Given the description of an element on the screen output the (x, y) to click on. 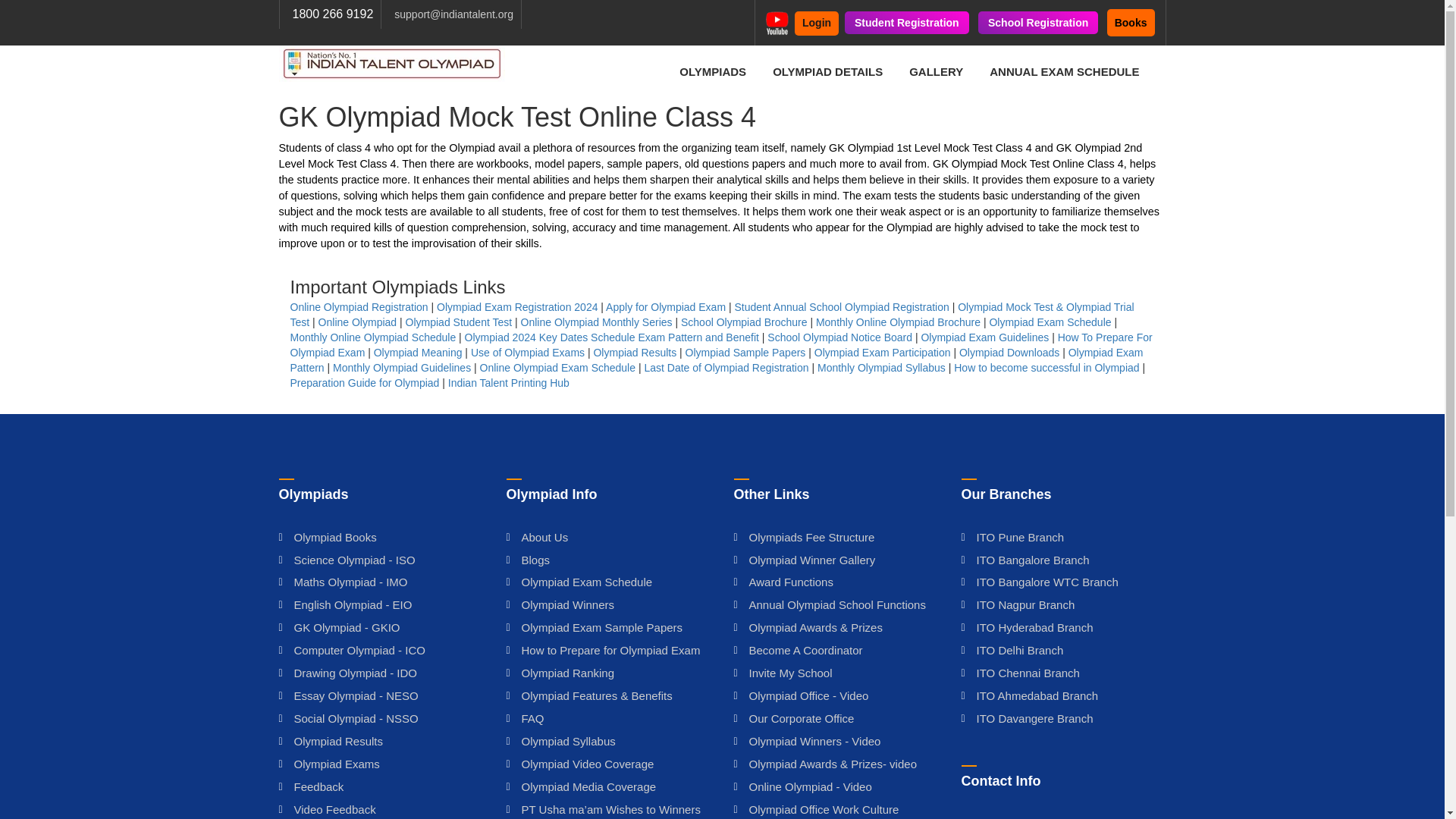
OLYMPIADS (712, 71)
INDIAN TALENT OLYMPIAD LOGO (392, 63)
Books (1130, 22)
Login (816, 23)
1800 266 9192 (333, 13)
Student Registration (906, 22)
School Registration (1037, 22)
